Given the description of an element on the screen output the (x, y) to click on. 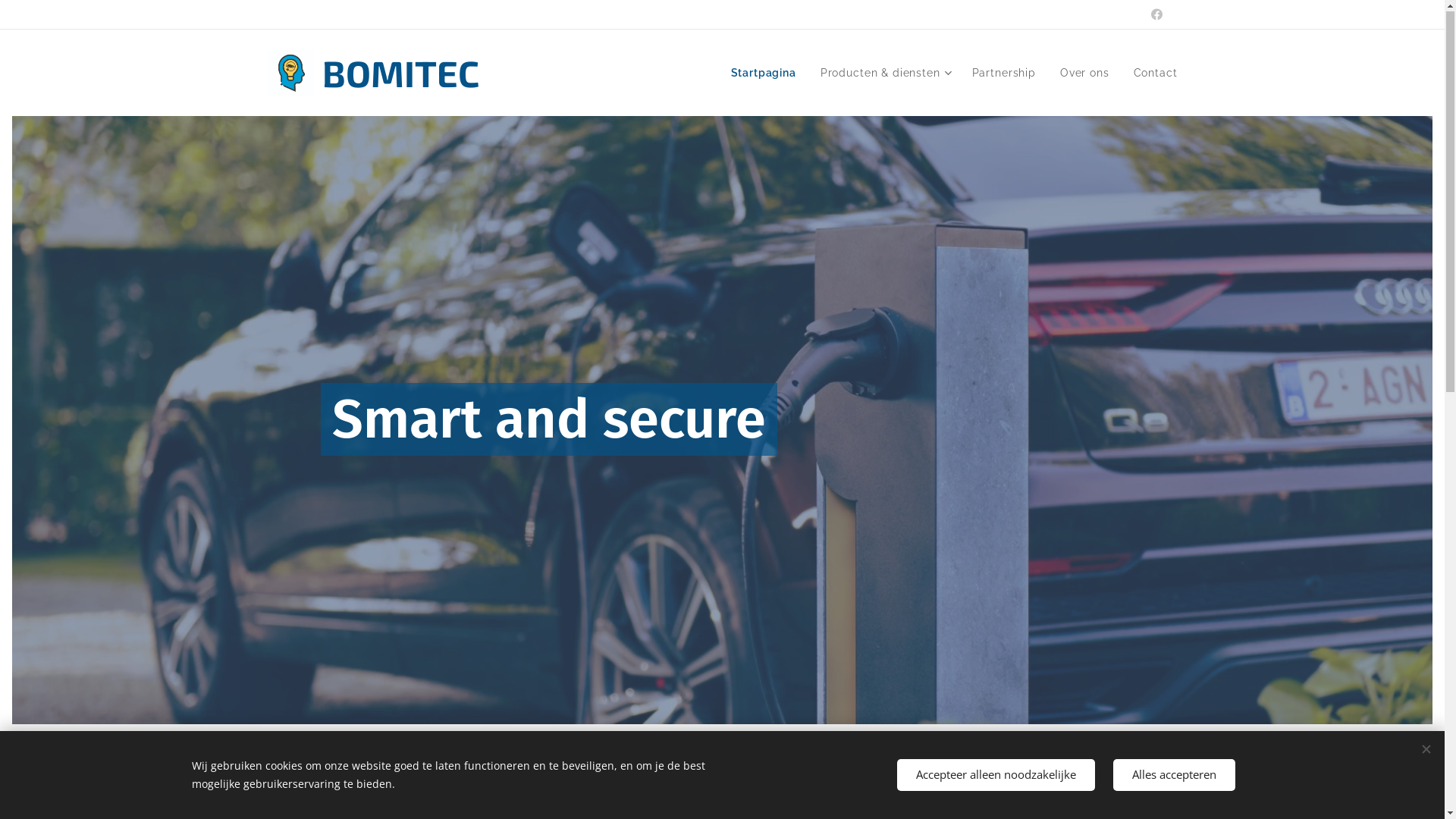
Producten & diensten Element type: text (884, 73)
Partnership Element type: text (1004, 73)
Accepteer alleen noodzakelijke Element type: text (995, 774)
Contact Element type: text (1149, 73)
Facebook Element type: hover (1155, 15)
Alles accepteren Element type: text (1174, 774)
Startpagina Element type: text (767, 73)
Over ons Element type: text (1084, 73)
